Given the description of an element on the screen output the (x, y) to click on. 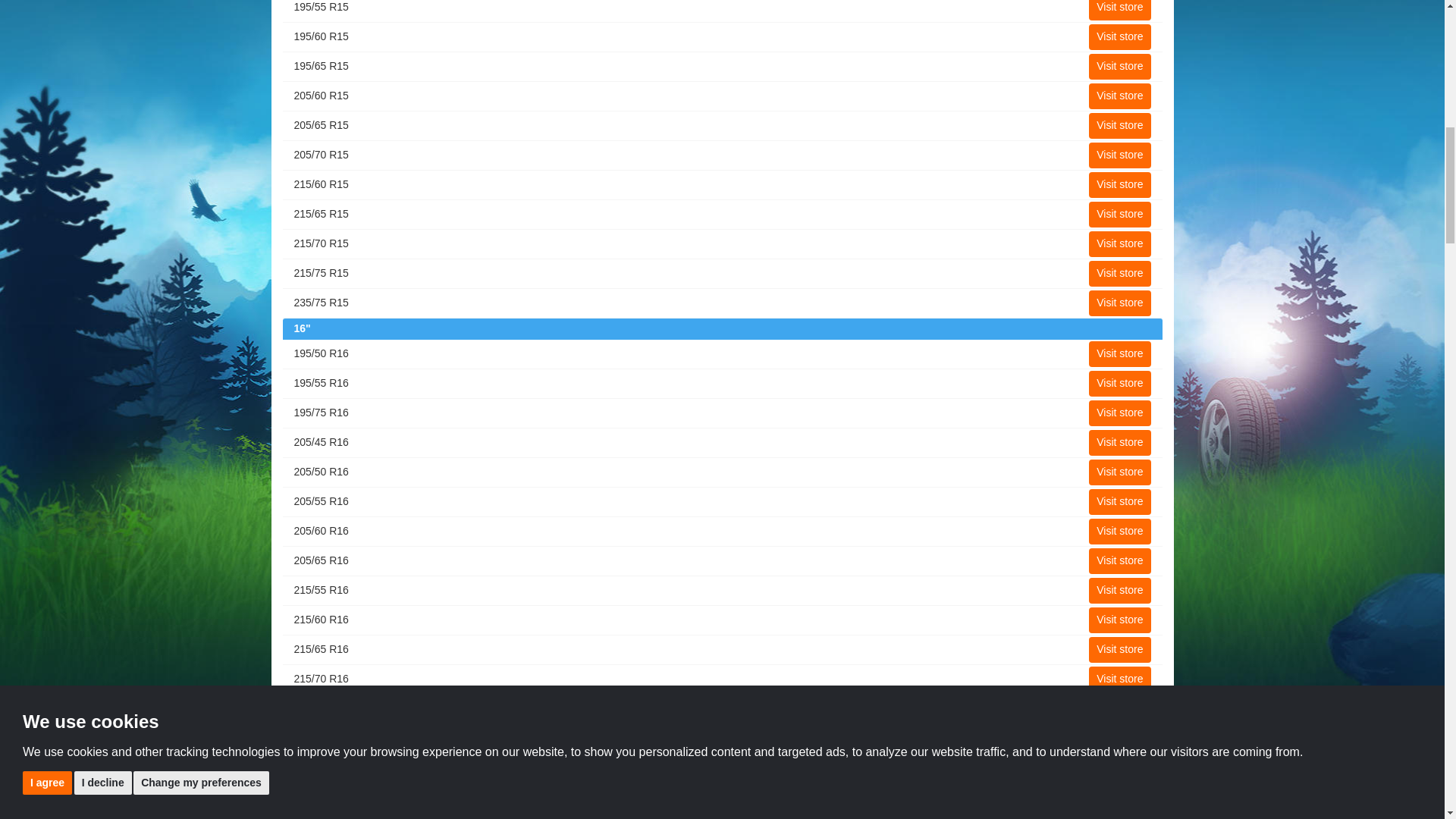
Visit store (1119, 10)
